Given the description of an element on the screen output the (x, y) to click on. 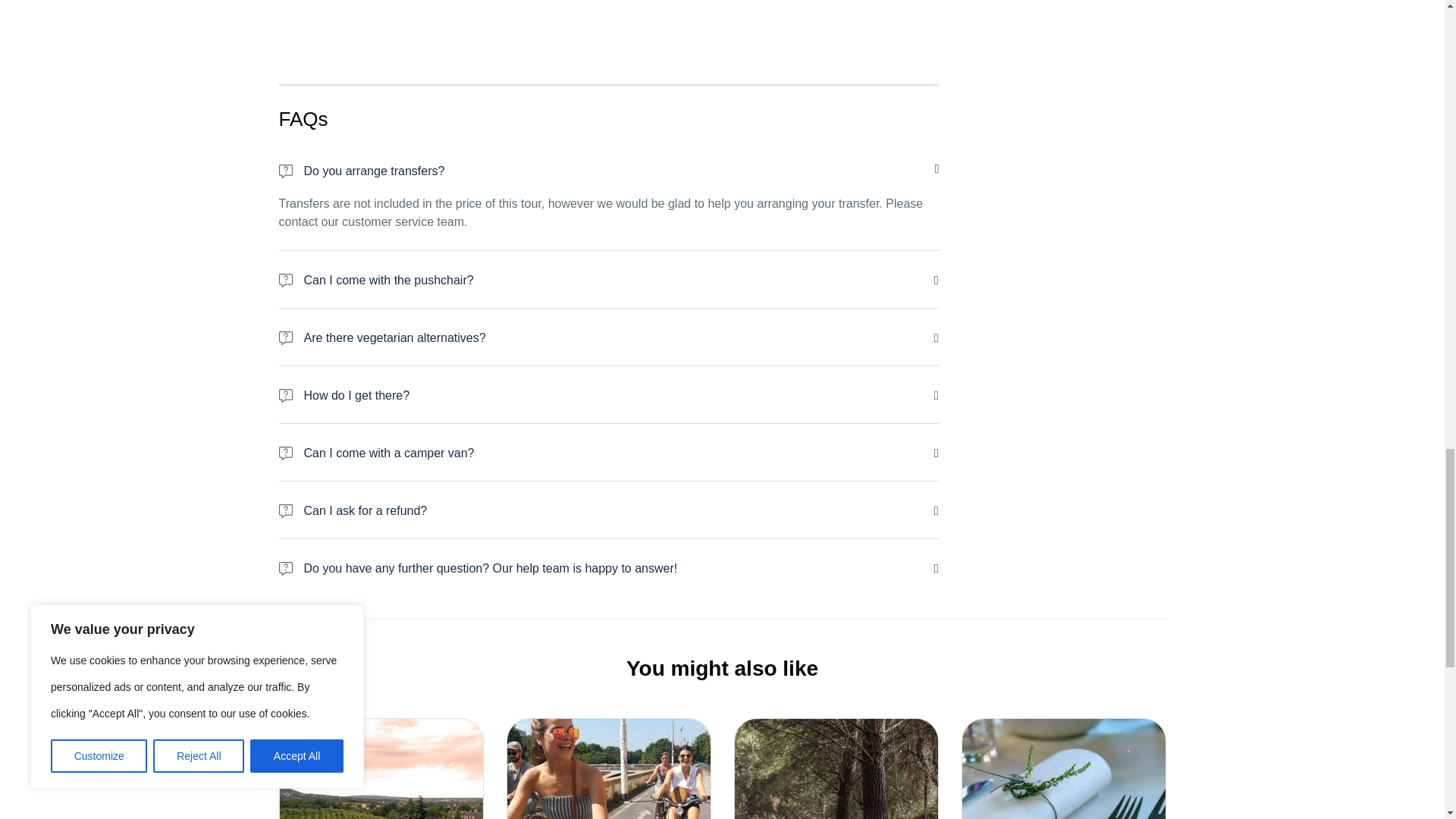
Add to wishlist (1138, 743)
Add to wishlist (455, 743)
Add to wishlist (682, 743)
Add to wishlist (910, 743)
